Given the description of an element on the screen output the (x, y) to click on. 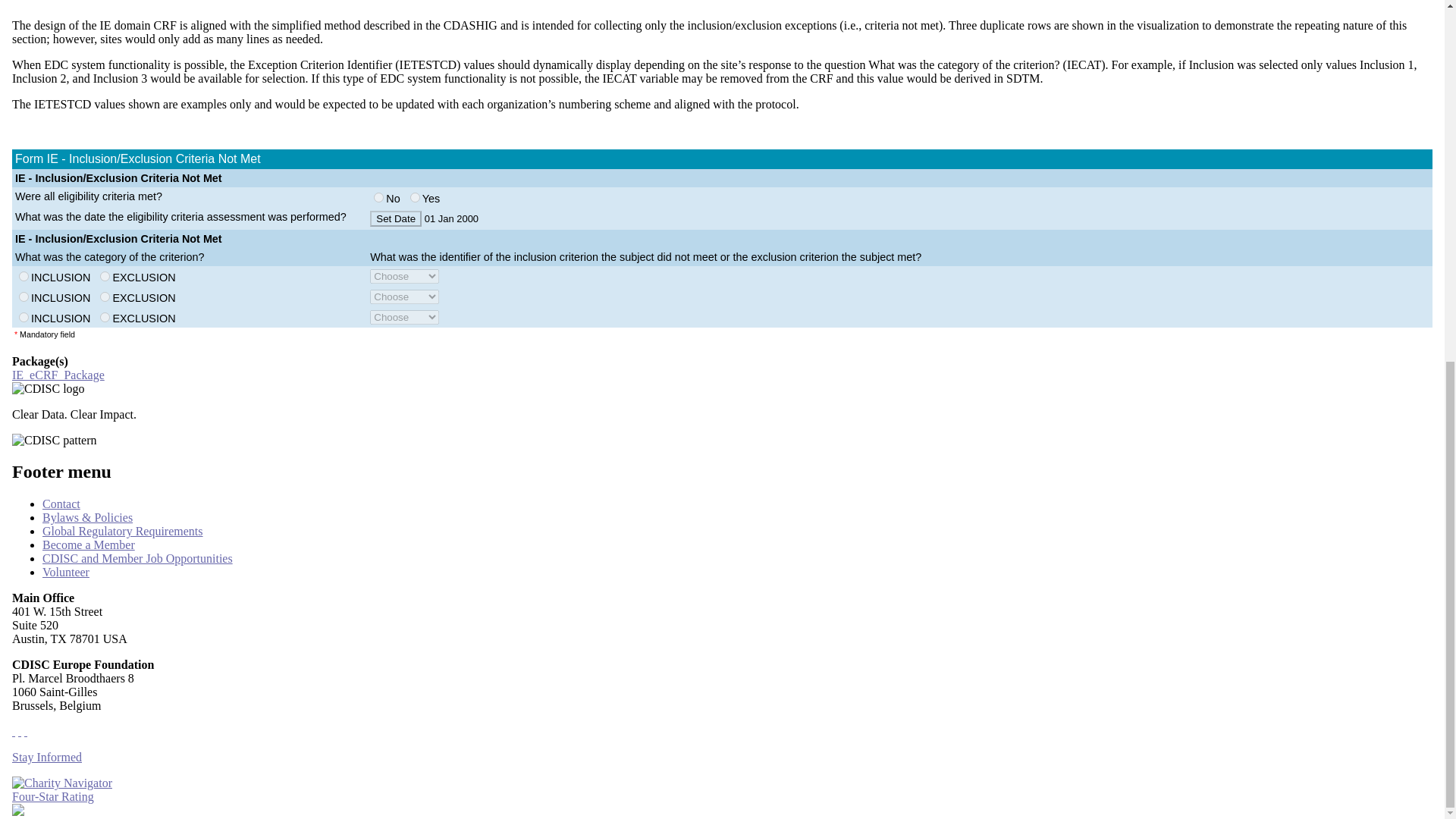
Inclusion (23, 296)
N (379, 197)
Field Name: IT.IETESTCD (404, 296)
Exclusion (105, 296)
Field Name: IT.IECAT (23, 276)
Inclusion (23, 317)
Exclusion (105, 276)
Exclusion (105, 317)
Field Name: IT.IECAT (105, 276)
Field Name: IT.IEDAT (395, 218)
Field Name: IT.IECAT (105, 296)
Set Date (395, 218)
Field Name: IT.IEYN (379, 197)
Inclusion (23, 276)
Field Name: IT.IETESTCD (404, 276)
